Given the description of an element on the screen output the (x, y) to click on. 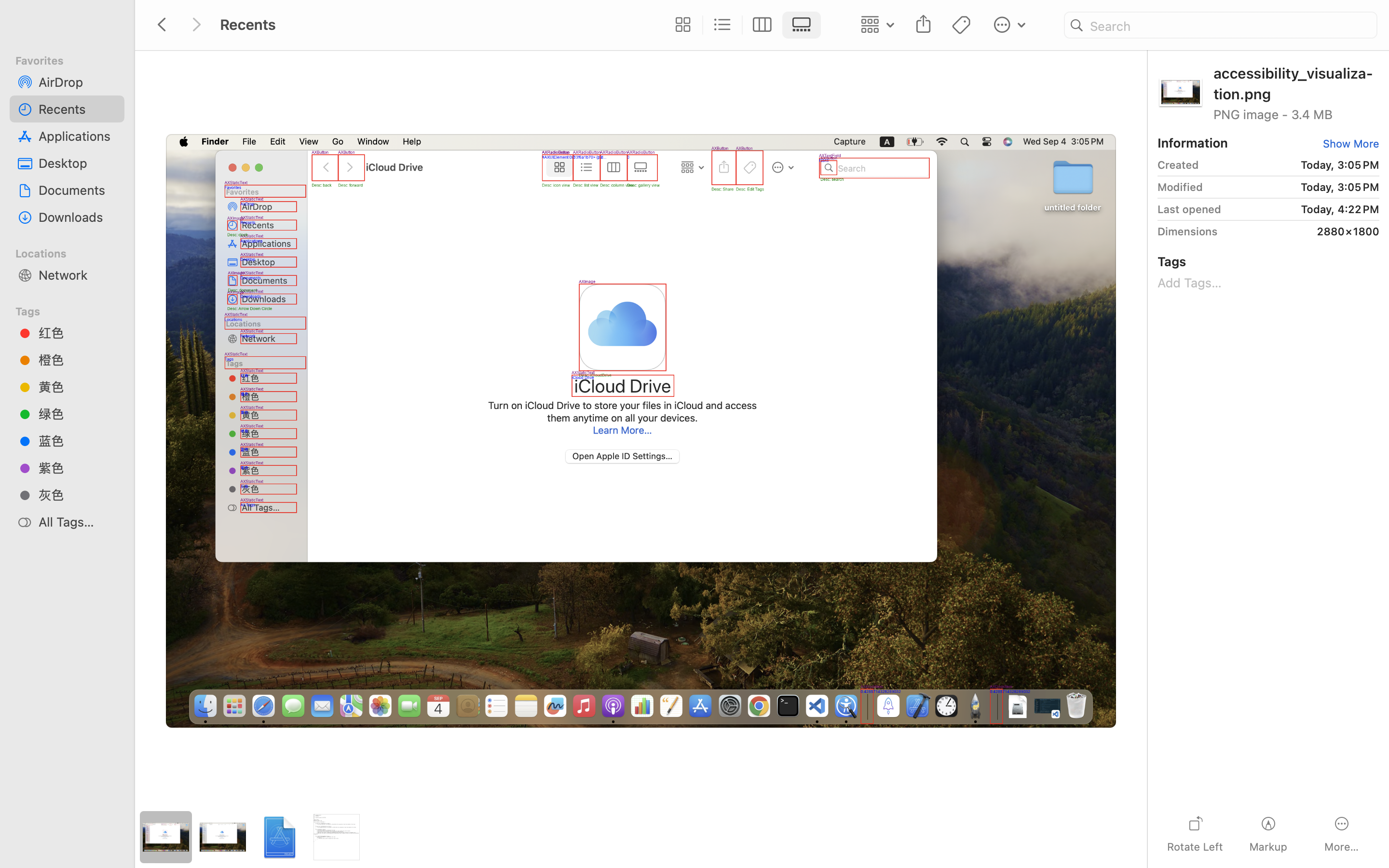
Today, 3:05 PM Element type: AXStaticText (1292, 164)
PNG image - 3.4 MB Element type: AXStaticText (1296, 113)
Desktop Element type: AXStaticText (77, 162)
1 Element type: AXRadioButton (804, 24)
0 Element type: AXRadioButton (680, 24)
